Given the description of an element on the screen output the (x, y) to click on. 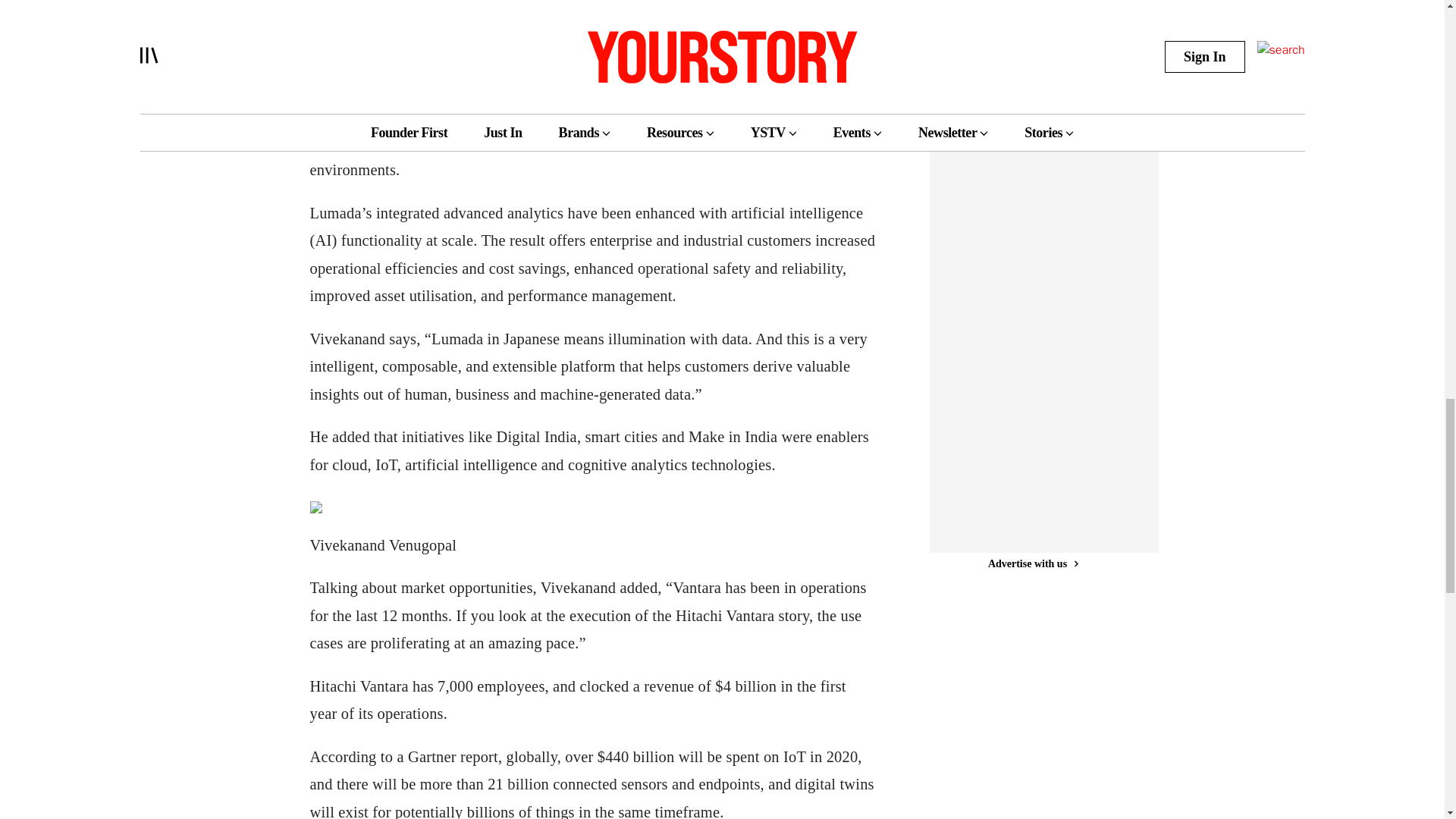
Advertise with us (1032, 538)
Advertise with us (1032, 51)
